Given the description of an element on the screen output the (x, y) to click on. 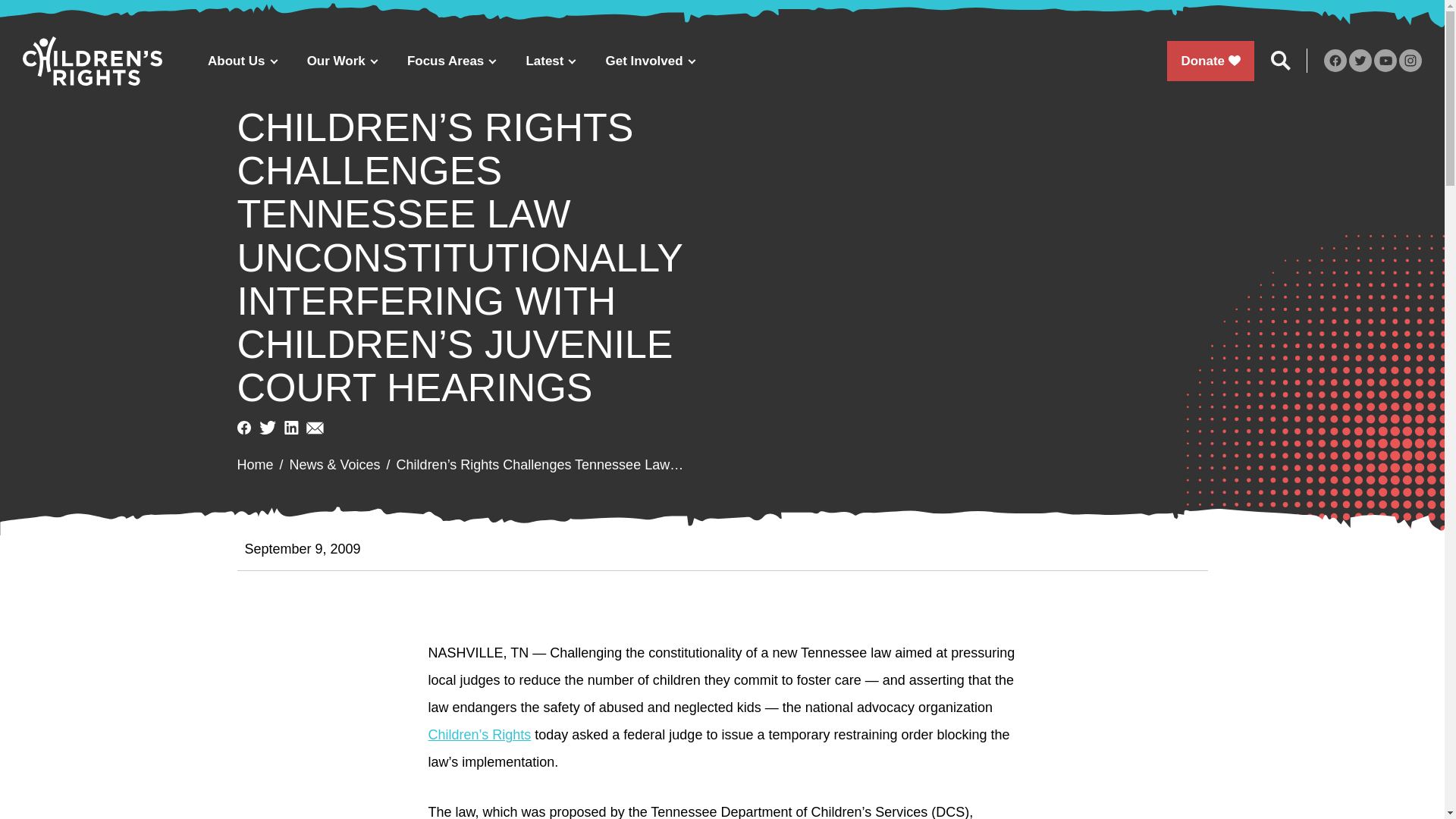
Share to LinkedIn (290, 427)
Donate (1210, 60)
Latest (550, 60)
Share to Twitter (267, 427)
Focus Areas (451, 60)
Get Involved (650, 60)
Share to Facebook (242, 427)
Share by Email (314, 427)
About Us (242, 60)
Our Work (341, 60)
homepage (92, 60)
